Given the description of an element on the screen output the (x, y) to click on. 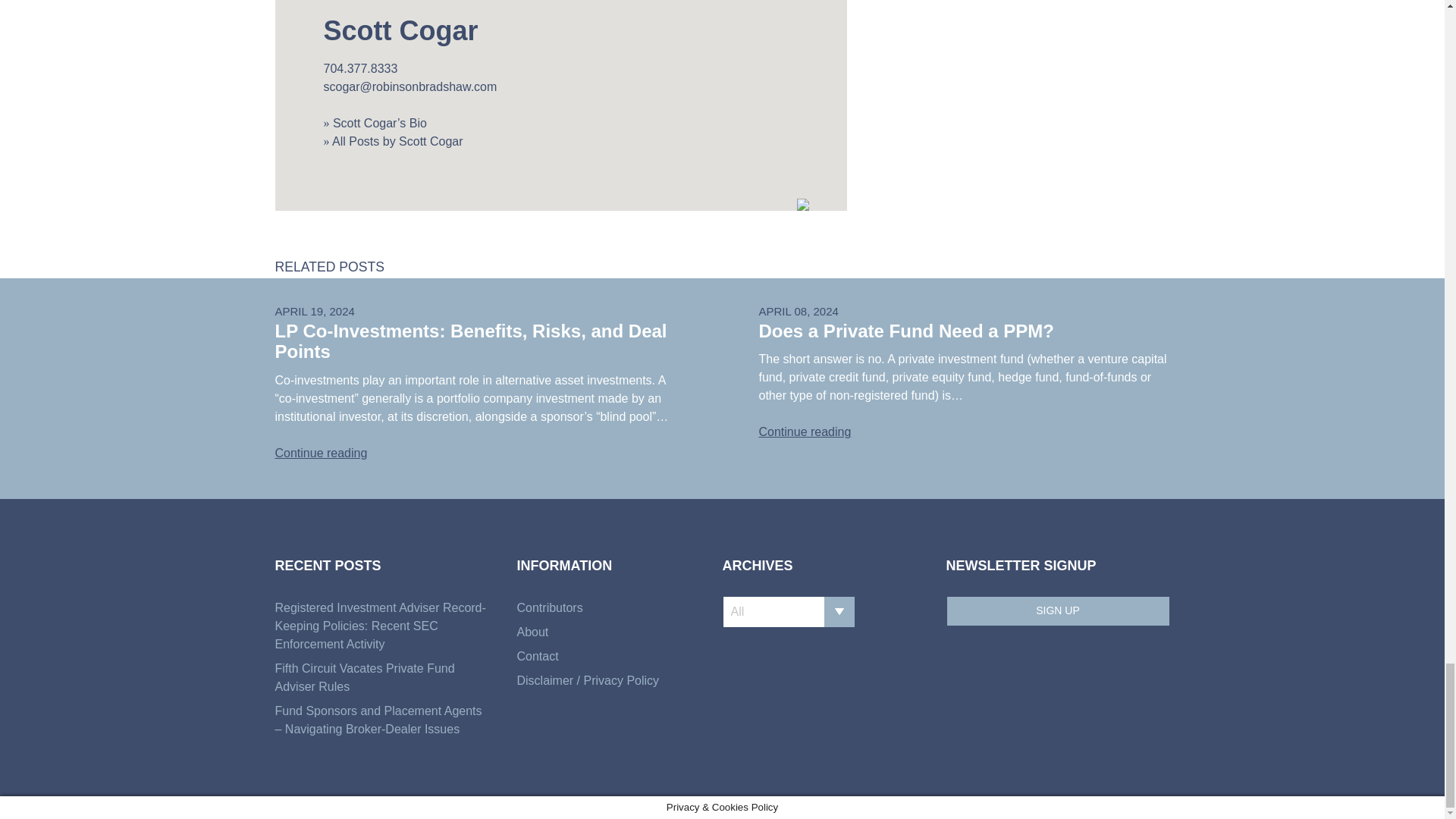
Does a Private Fund Need a PPM? (905, 331)
About (614, 631)
Fifth Circuit Vacates Private Fund Adviser Rules (382, 677)
Contributors (614, 607)
Continue reading (804, 431)
Contact (614, 656)
All Posts by Scott Cogar (393, 141)
Continue reading (320, 452)
LP Co-Investments: Benefits, Risks, and Deal Points (470, 341)
SIGN UP (1058, 611)
